Given the description of an element on the screen output the (x, y) to click on. 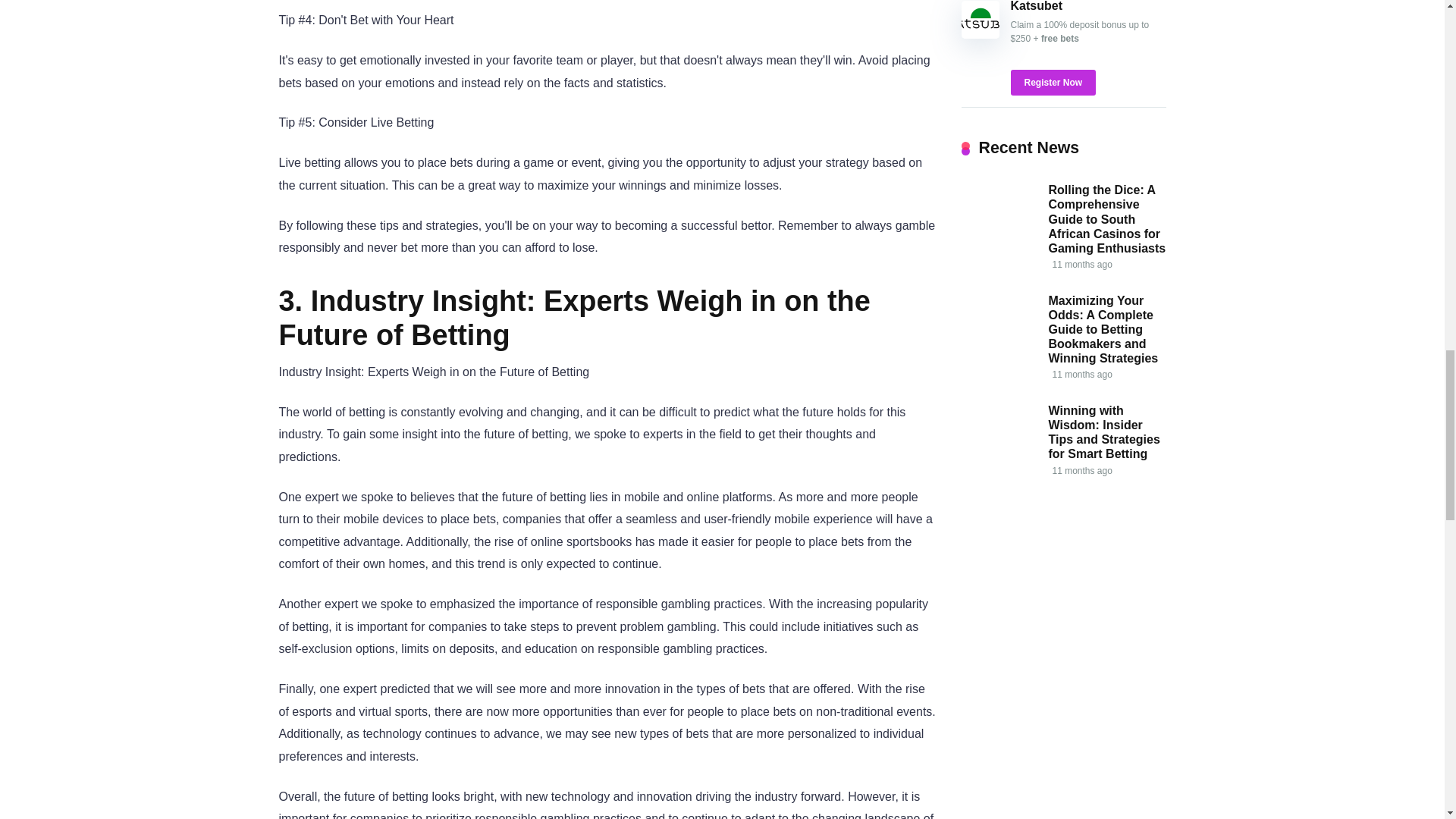
Katsubet (1035, 6)
Register Now (1053, 82)
